Given the description of an element on the screen output the (x, y) to click on. 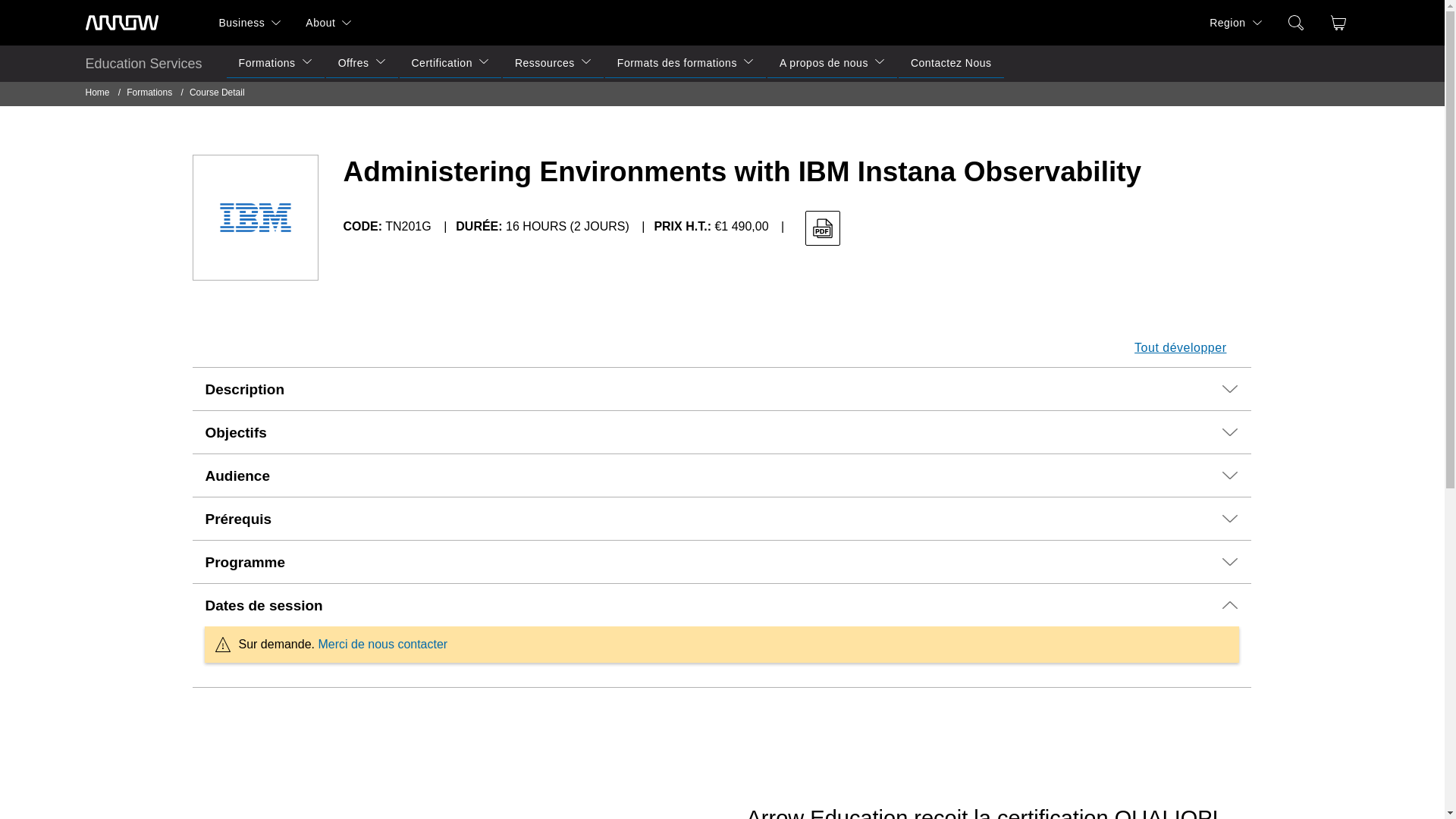
Download PDF (822, 227)
Region (1220, 22)
Business (235, 22)
About (314, 22)
